Given the description of an element on the screen output the (x, y) to click on. 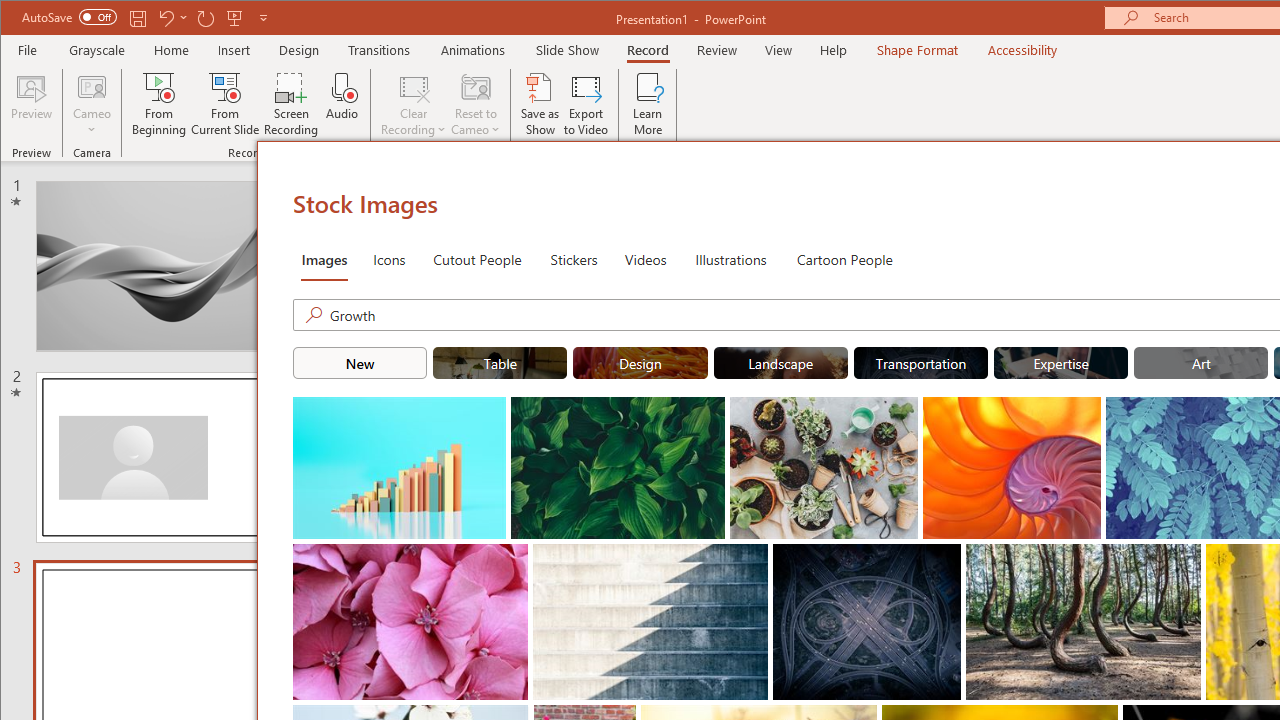
"Expertise" Stock Images. (1060, 362)
From Beginning... (159, 104)
Cartoon People (844, 258)
From Current Slide... (225, 104)
Shape Format (916, 50)
Thumbnail (1185, 558)
Help (833, 50)
"Transportation" Stock Images. (920, 362)
Customize Quick Access Toolbar (263, 17)
Learn More (648, 104)
View (779, 50)
Home (171, 50)
